Given the description of an element on the screen output the (x, y) to click on. 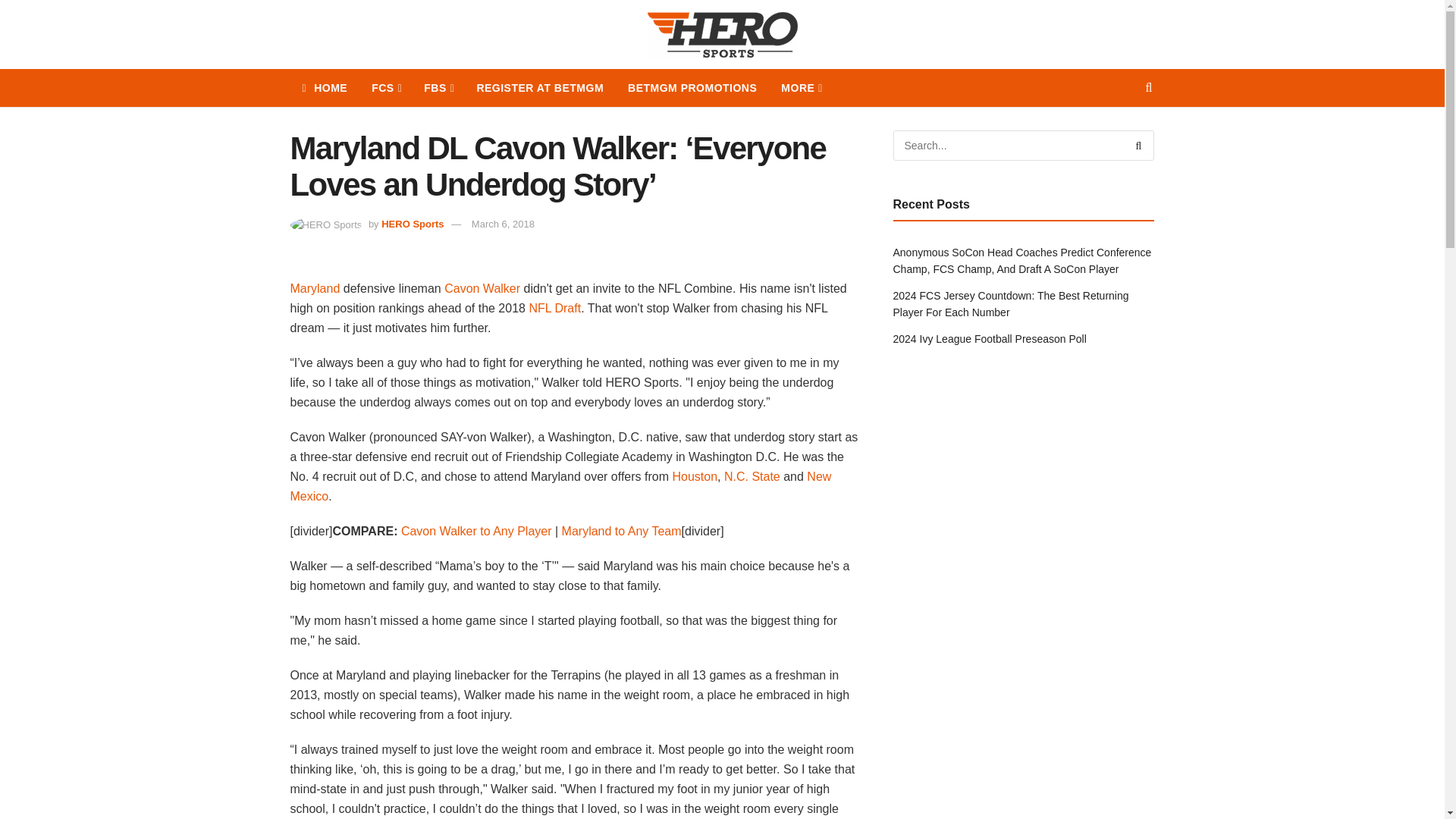
BETMGM PROMOTIONS (691, 87)
FBS (438, 87)
MORE (800, 87)
HOME (324, 87)
REGISTER AT BETMGM (539, 87)
FCS (385, 87)
